Given the description of an element on the screen output the (x, y) to click on. 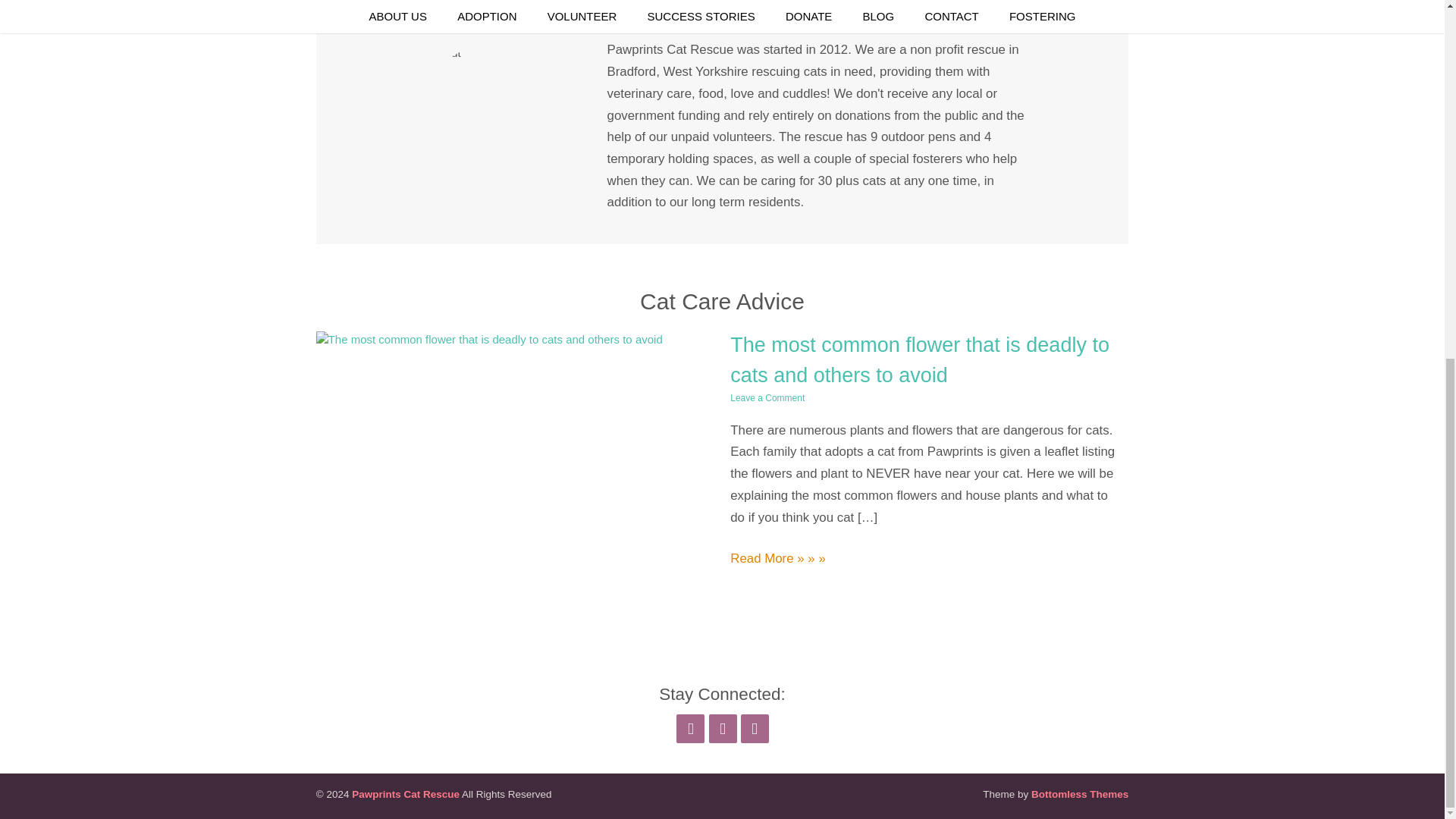
Bottomless Themes (1079, 794)
Leave a Comment (767, 398)
Pawprints Cat Rescue (406, 794)
